Given the description of an element on the screen output the (x, y) to click on. 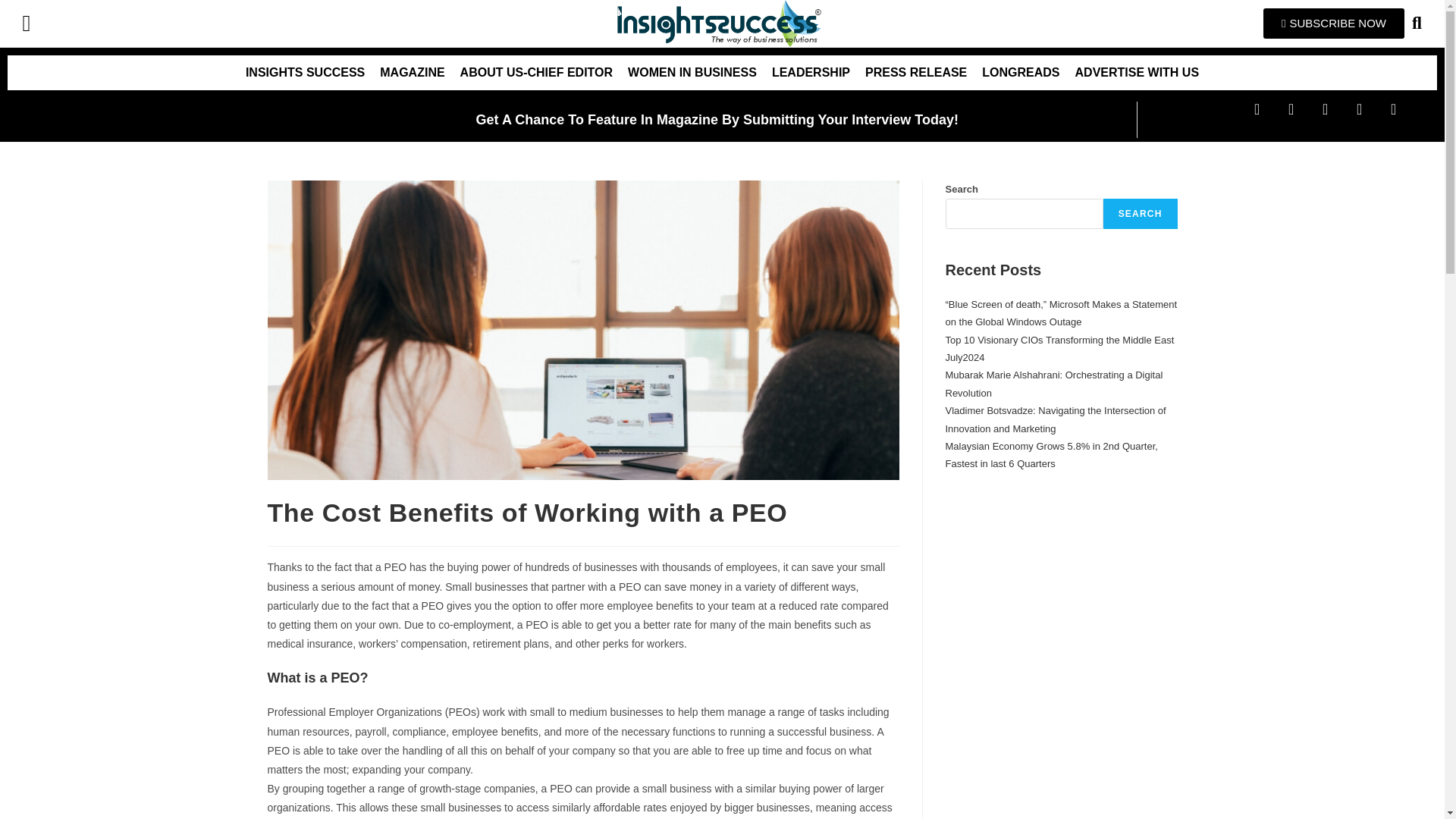
Mubarak Marie Alshahrani: Orchestrating a Digital Revolution (1052, 383)
ADVERTISE WITH US (1137, 72)
LEADERSHIP (810, 72)
LONGREADS (1020, 72)
SEARCH (1140, 214)
PRESS RELEASE (915, 72)
INSIGHTS SUCCESS (305, 72)
ABOUT US-CHIEF EDITOR (536, 72)
SUBSCRIBE NOW (1334, 23)
WOMEN IN BUSINESS (692, 72)
MAGAZINE (411, 72)
Top 10 Visionary CIOs Transforming the Middle East July2024 (1058, 348)
